Given the description of an element on the screen output the (x, y) to click on. 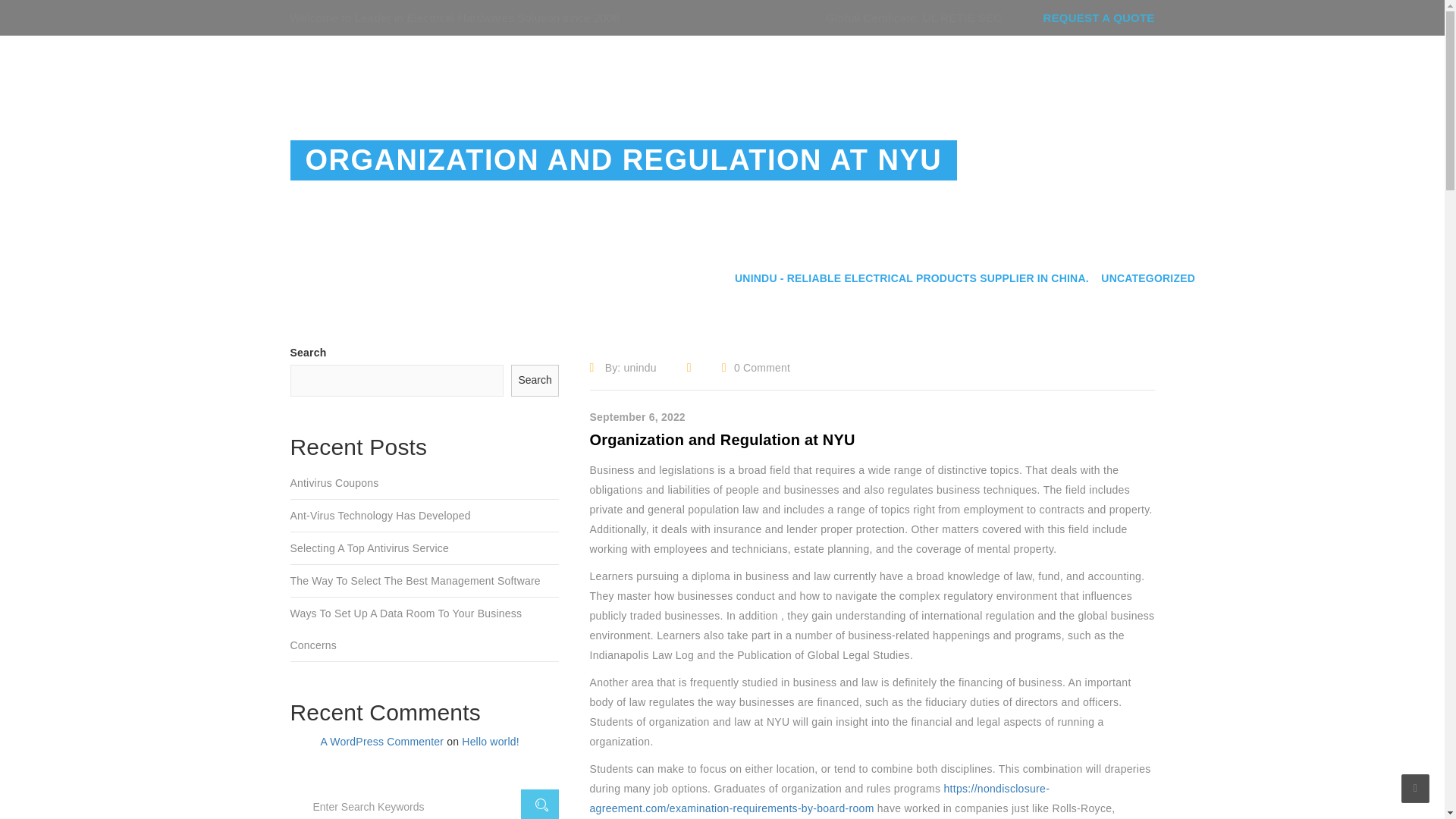
Selecting A Top Antivirus Service (424, 548)
ABOUT US (782, 77)
0 Comment (761, 367)
HOME (703, 77)
Search (535, 380)
UNINDU - RELIABLE ELECTRICAL PRODUCTS SUPPLIER IN CHINA. (912, 278)
Organization and Regulation at NYU (722, 439)
Antivirus Coupons (424, 482)
PRODUCT (871, 77)
Hello world! (490, 741)
Go to the Uncategorized category archives. (1147, 278)
REQUEST A QUOTE (1098, 17)
unindu (640, 367)
A WordPress Commenter (382, 741)
